Given the description of an element on the screen output the (x, y) to click on. 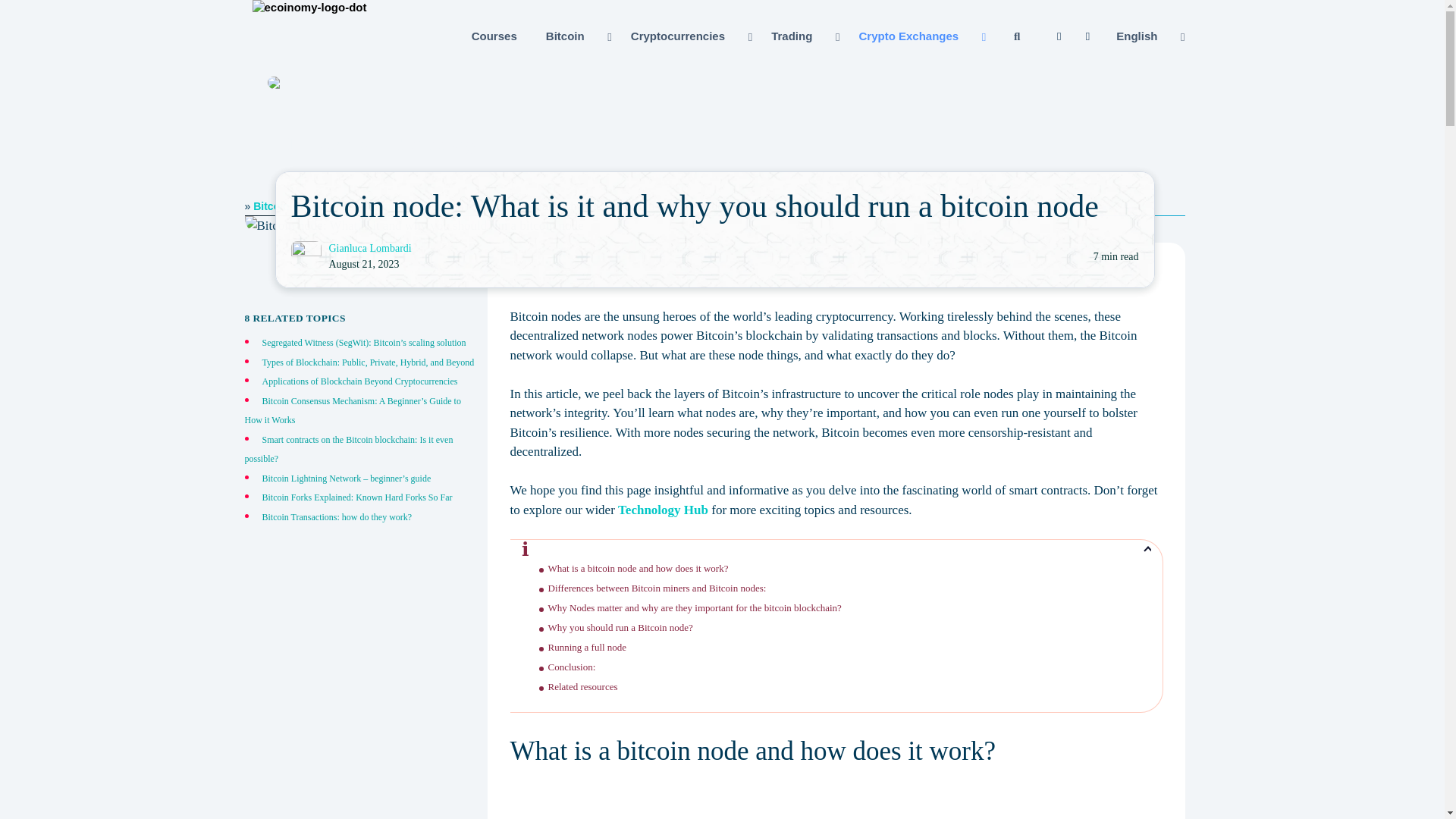
Courses (494, 36)
Crypto Exchanges (919, 36)
Cryptocurrencies (690, 36)
Trading (803, 36)
Bitcoin (577, 36)
